Given the description of an element on the screen output the (x, y) to click on. 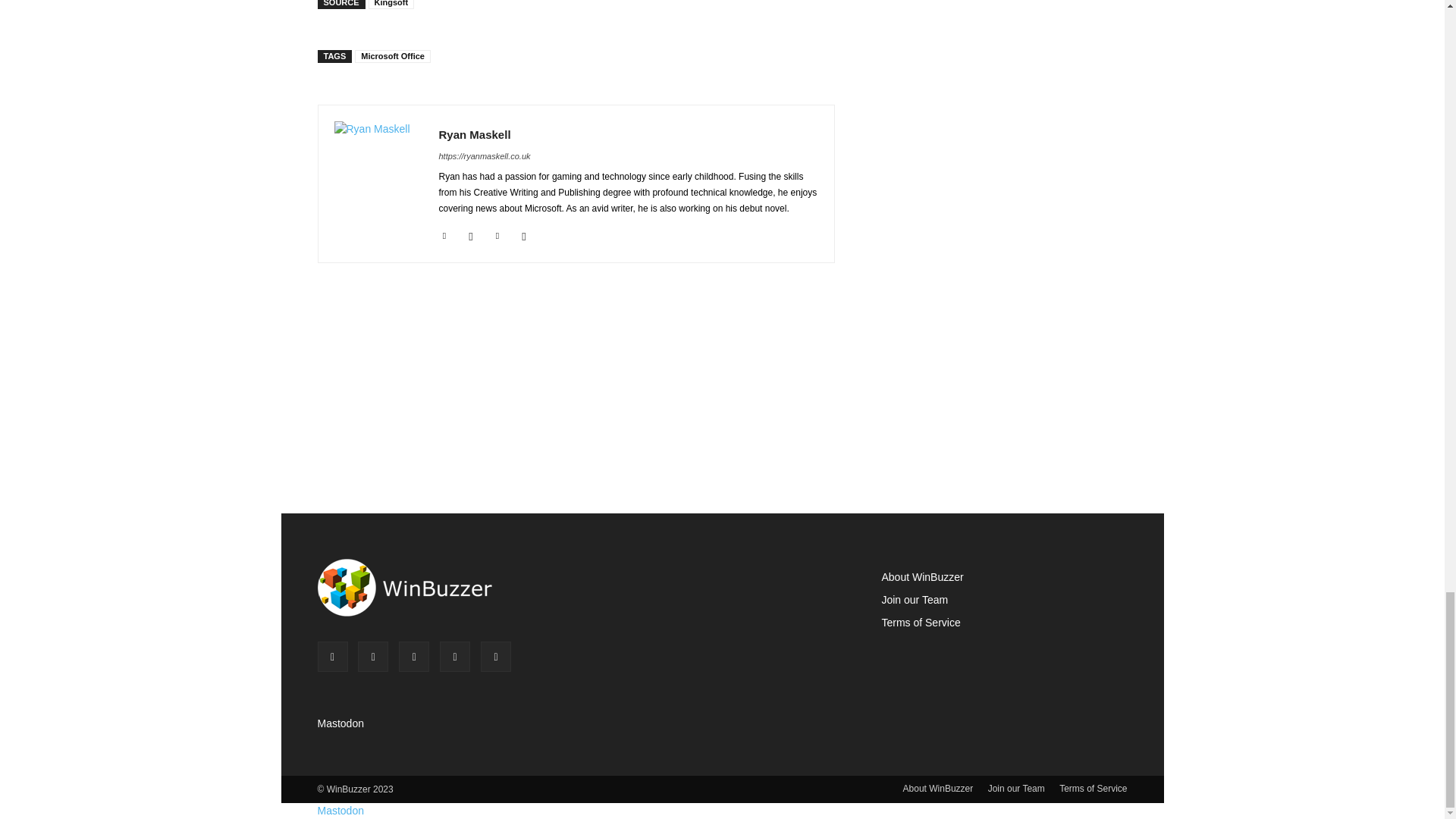
Mail (471, 233)
Twitter (497, 233)
Xing (523, 233)
Linkedin (443, 233)
